Given the description of an element on the screen output the (x, y) to click on. 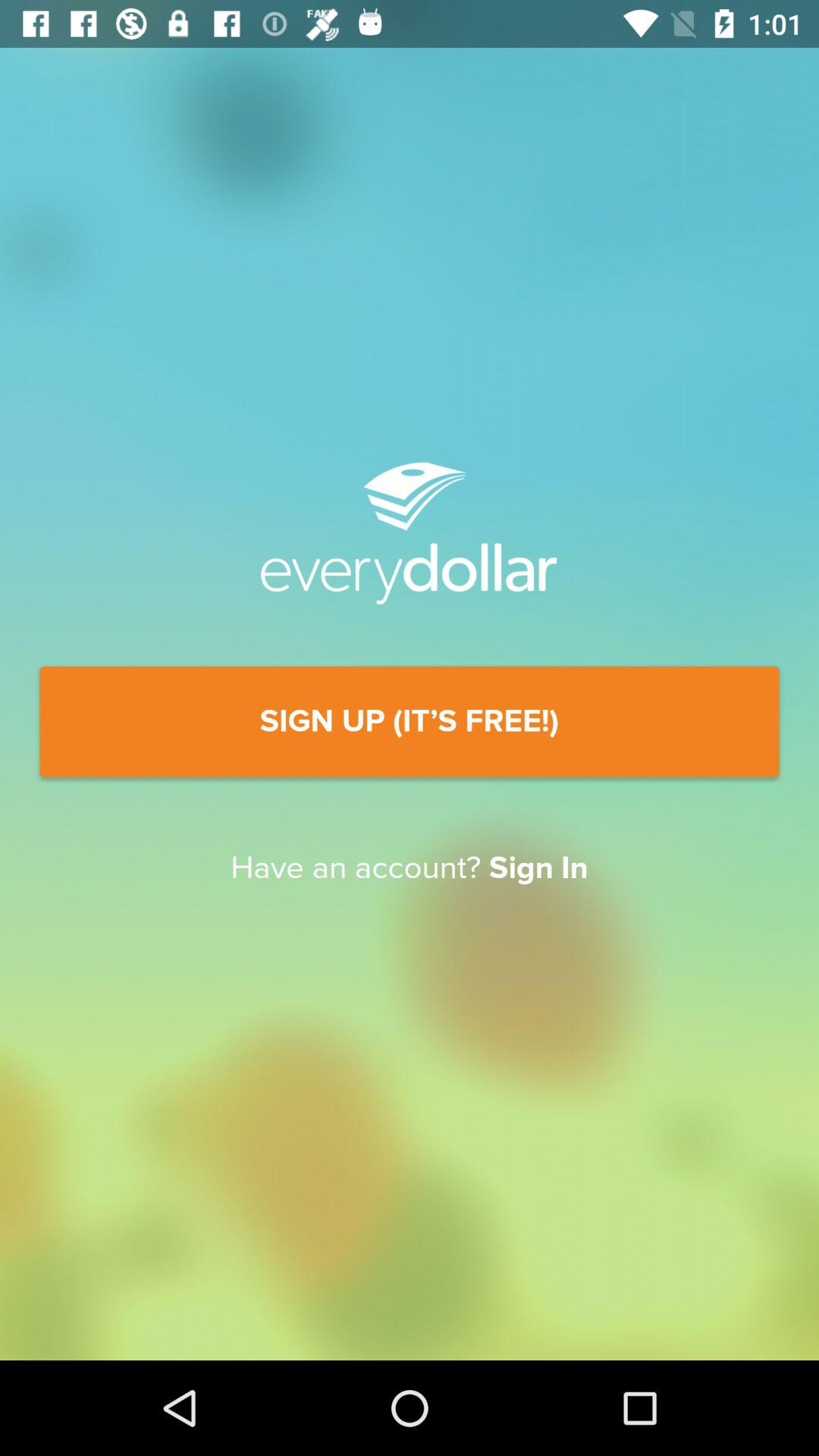
turn on the sign up it item (409, 721)
